Given the description of an element on the screen output the (x, y) to click on. 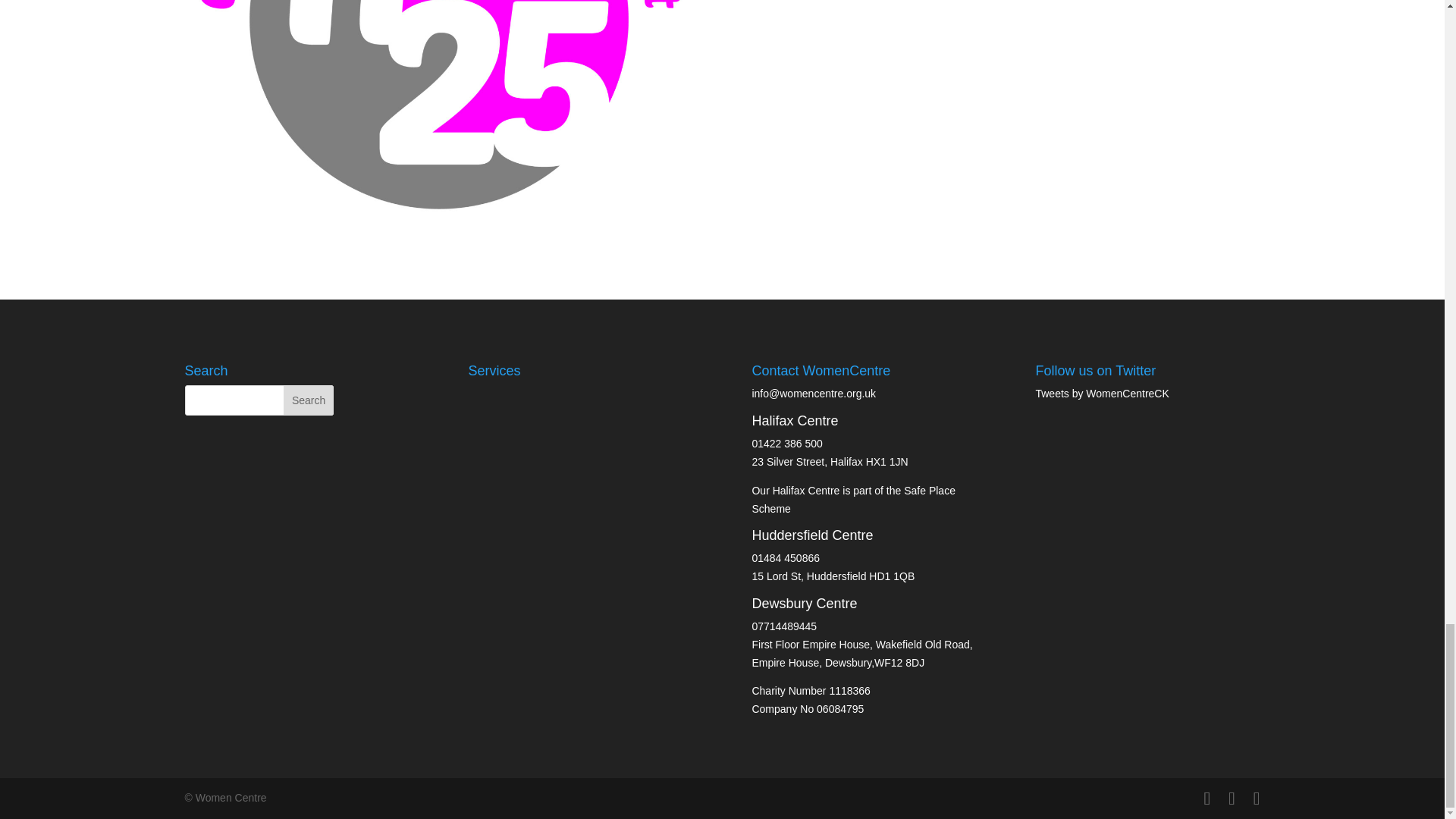
Search (308, 399)
The-National-Lottery-Community-Fund (1005, 8)
